Given the description of an element on the screen output the (x, y) to click on. 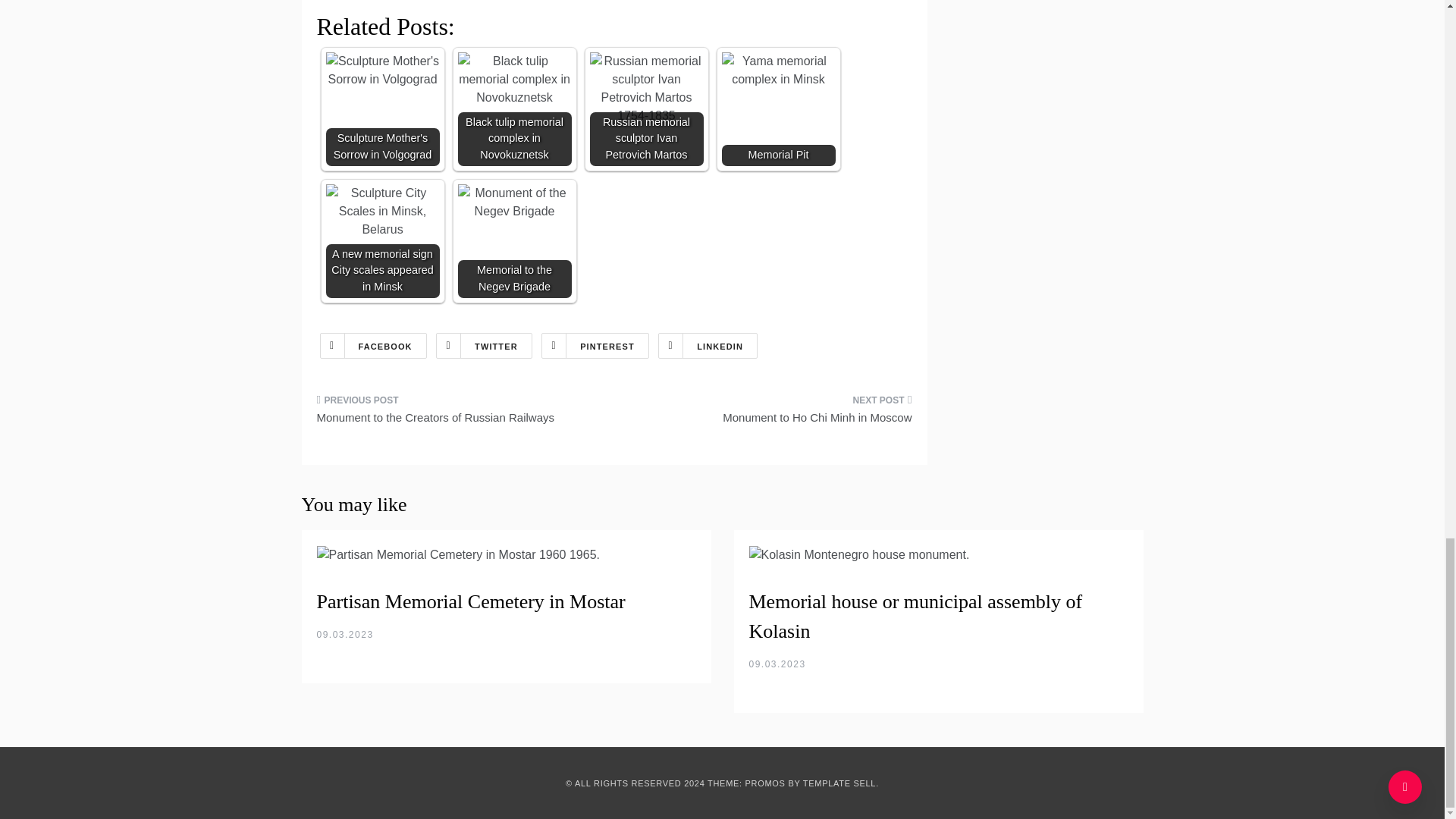
A new memorial sign City scales appeared in Minsk (382, 241)
PINTEREST (595, 345)
TWITTER (483, 345)
LINKEDIN (707, 345)
Sculpture Mother's Sorrow in Volgograd (382, 109)
Monument to the Creators of Russian Railways (460, 413)
Sculpture Mother's Sorrow in Volgograd (382, 70)
Black tulip memorial complex in Novokuznetsk (515, 79)
A new memorial sign City scales appeared in Minsk (382, 211)
FACEBOOK (373, 345)
